Given the description of an element on the screen output the (x, y) to click on. 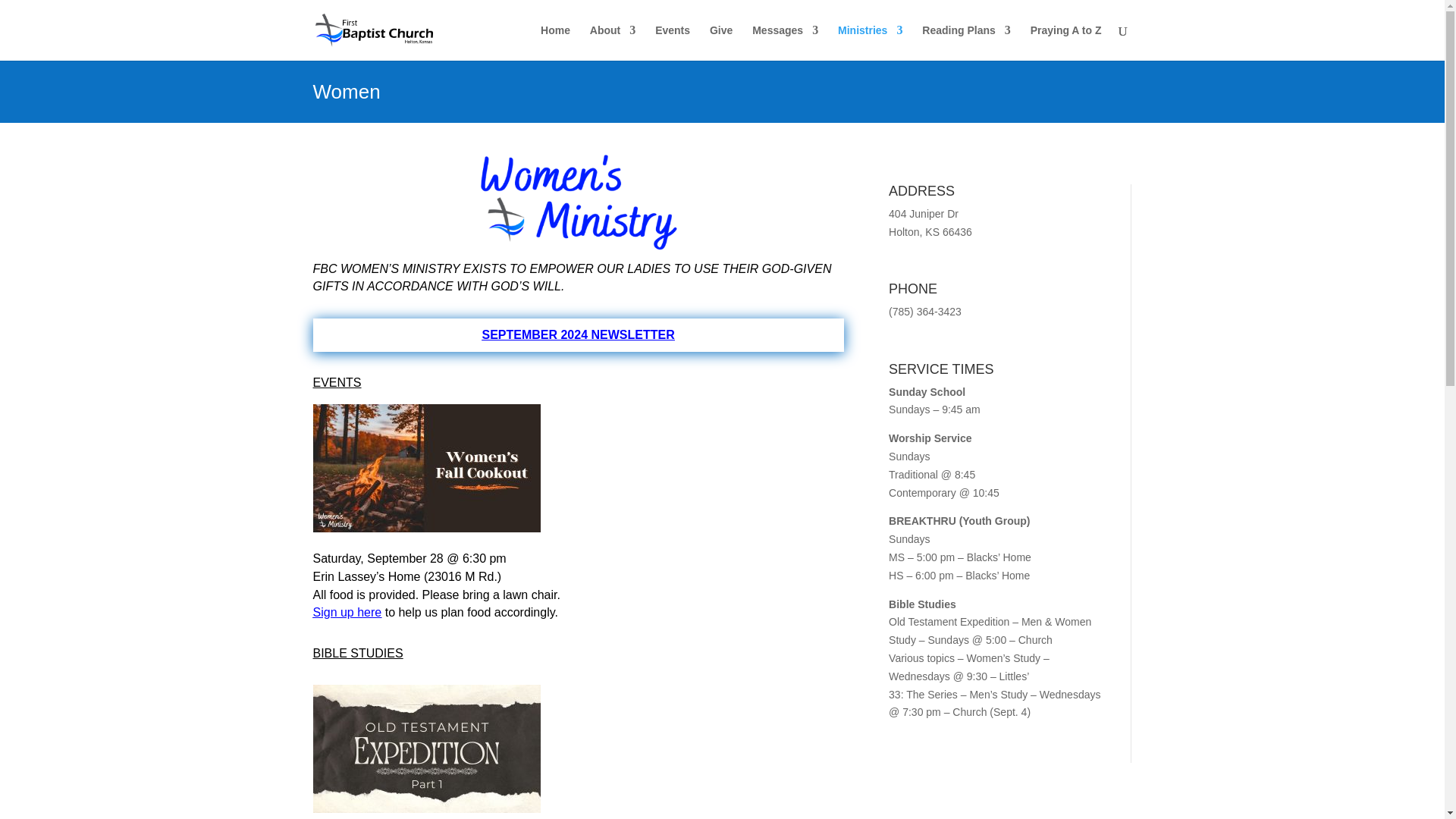
Women's Blue2 (578, 200)
Reading Plans (965, 42)
Ministries (870, 42)
About (611, 42)
Praying A to Z (1066, 42)
Events (672, 42)
Messages (785, 42)
